Given the description of an element on the screen output the (x, y) to click on. 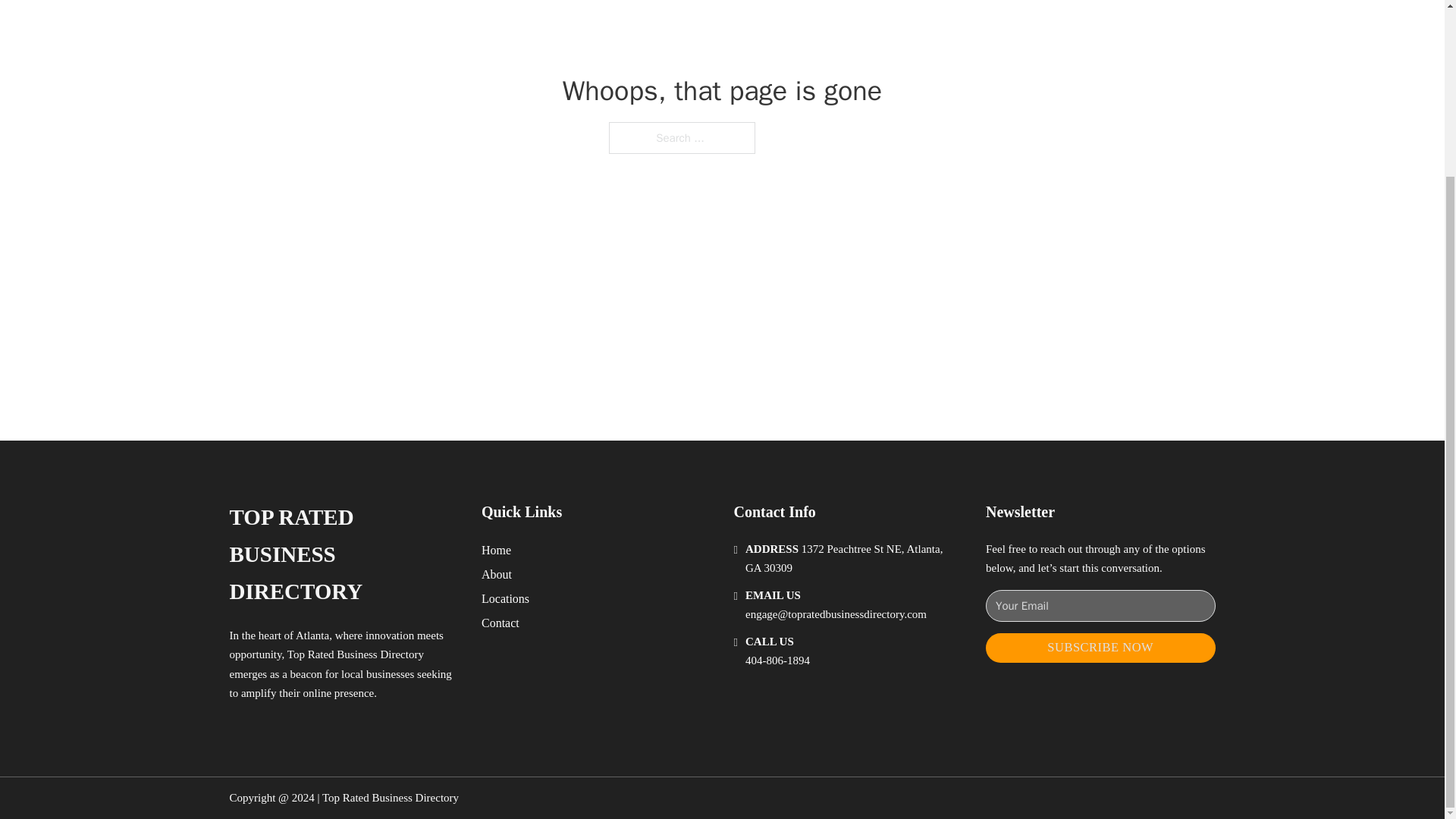
Locations (505, 598)
TOP RATED BUSINESS DIRECTORY (343, 554)
404-806-1894 (777, 660)
Home (496, 549)
SUBSCRIBE NOW (1100, 647)
Contact (500, 622)
About (496, 574)
